Given the description of an element on the screen output the (x, y) to click on. 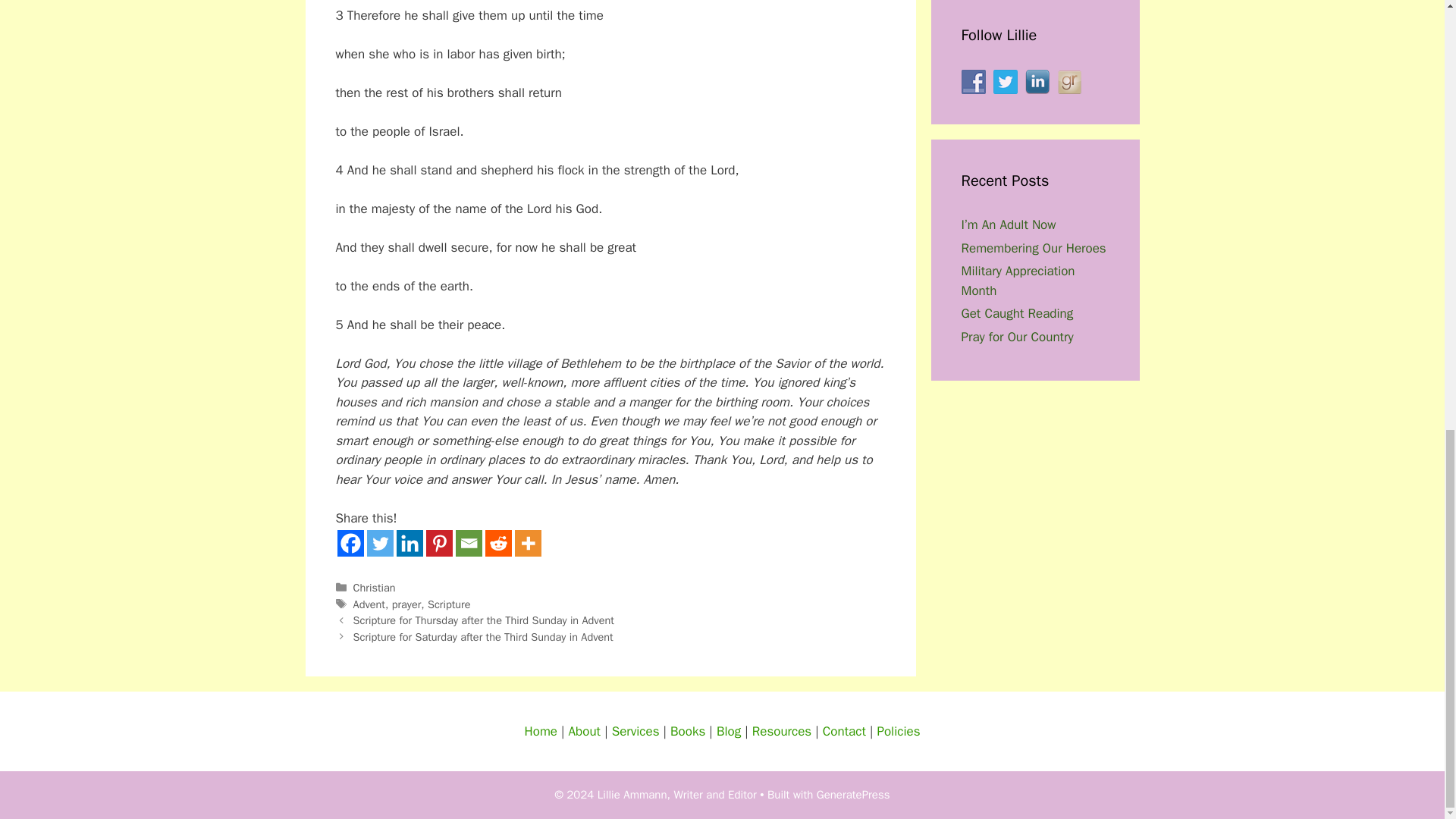
Pinterest (439, 542)
Scripture (449, 603)
Scroll back to top (1406, 633)
Get Caught Reading (1017, 313)
Linkedin (409, 542)
Christian (374, 587)
Remembering Our Heroes (1033, 248)
Advent (369, 603)
Email (467, 542)
Follow Me on Facebook (972, 81)
Scripture for Saturday after the Third Sunday in Advent (482, 636)
Facebook (349, 542)
Scripture for Thursday after the Third Sunday in Advent (483, 620)
Reddit (498, 542)
Follow Me on Twitter (1004, 81)
